Given the description of an element on the screen output the (x, y) to click on. 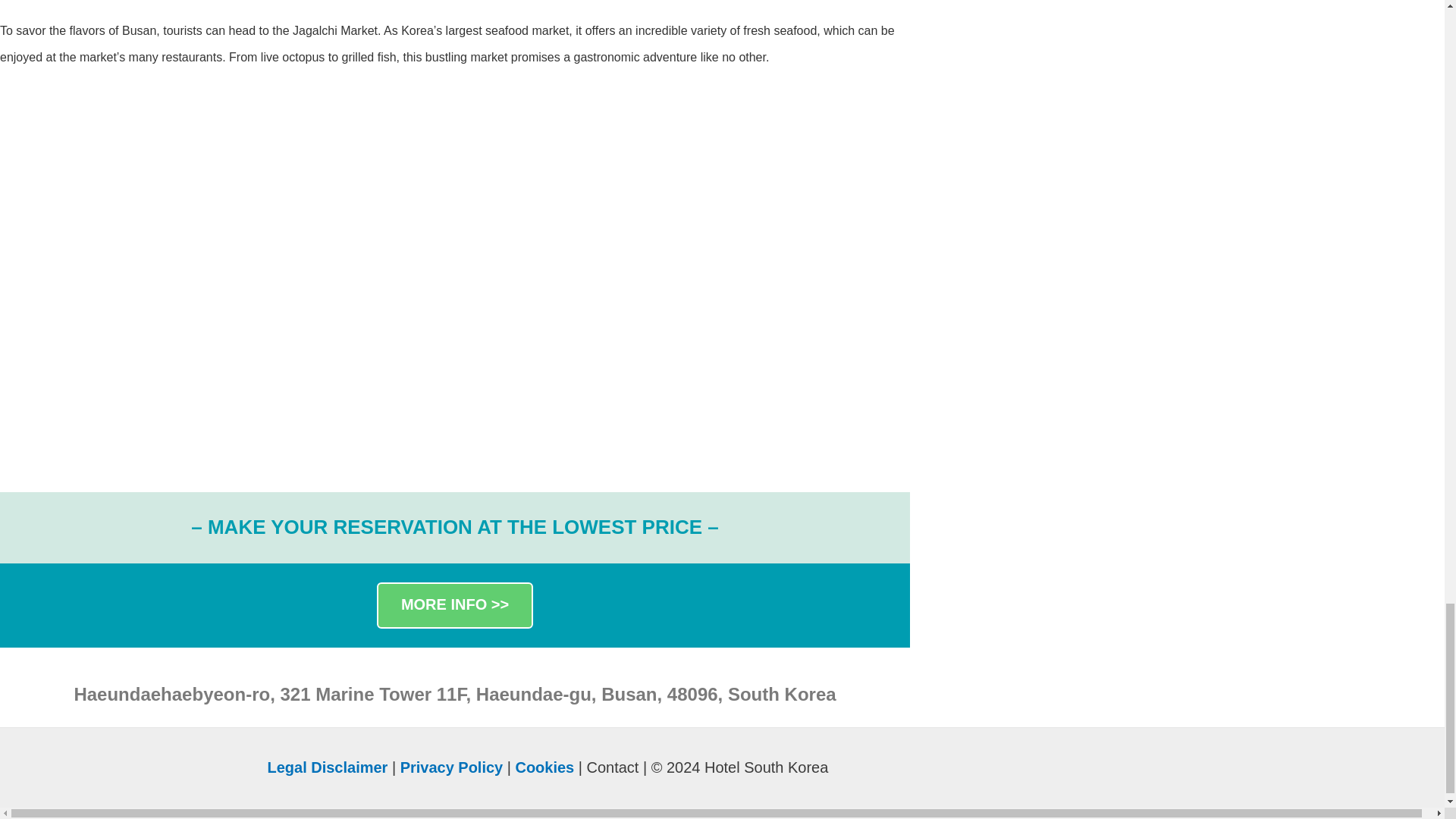
Busan Popcorn Hostel (454, 185)
Legal Disclaimer (326, 767)
Privacy Policy (451, 767)
Busan Popcorn Hostel (153, 185)
Busan Popcorn Hostel (153, 369)
Cookies (544, 767)
